Given the description of an element on the screen output the (x, y) to click on. 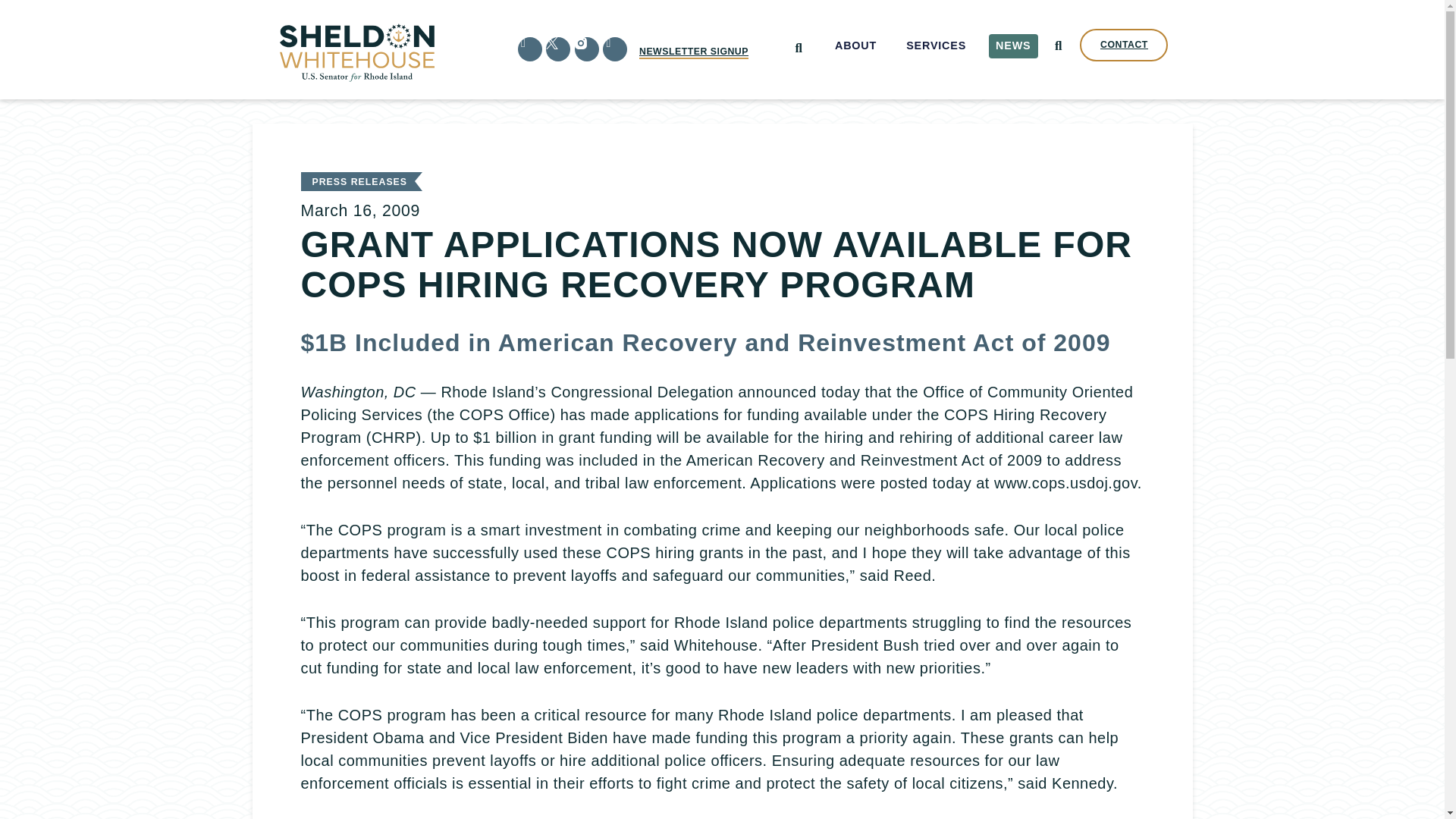
ABOUT (855, 46)
NEWS (1013, 46)
CONTACT (1123, 44)
SERVICES (936, 46)
NEWSLETTER SIGNUP (693, 51)
